Given the description of an element on the screen output the (x, y) to click on. 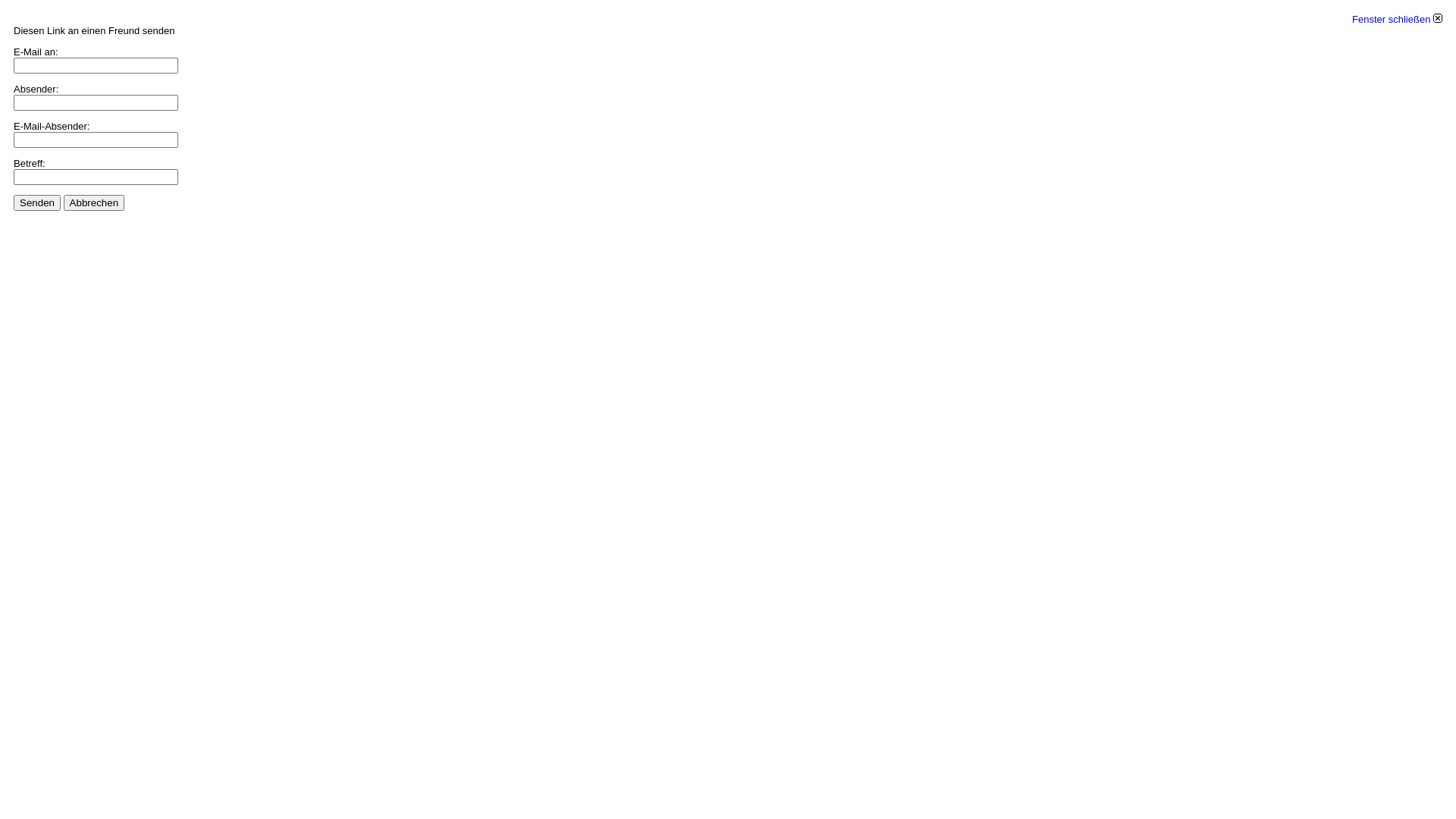
Abbrechen Element type: text (93, 202)
Senden Element type: text (36, 202)
